Given the description of an element on the screen output the (x, y) to click on. 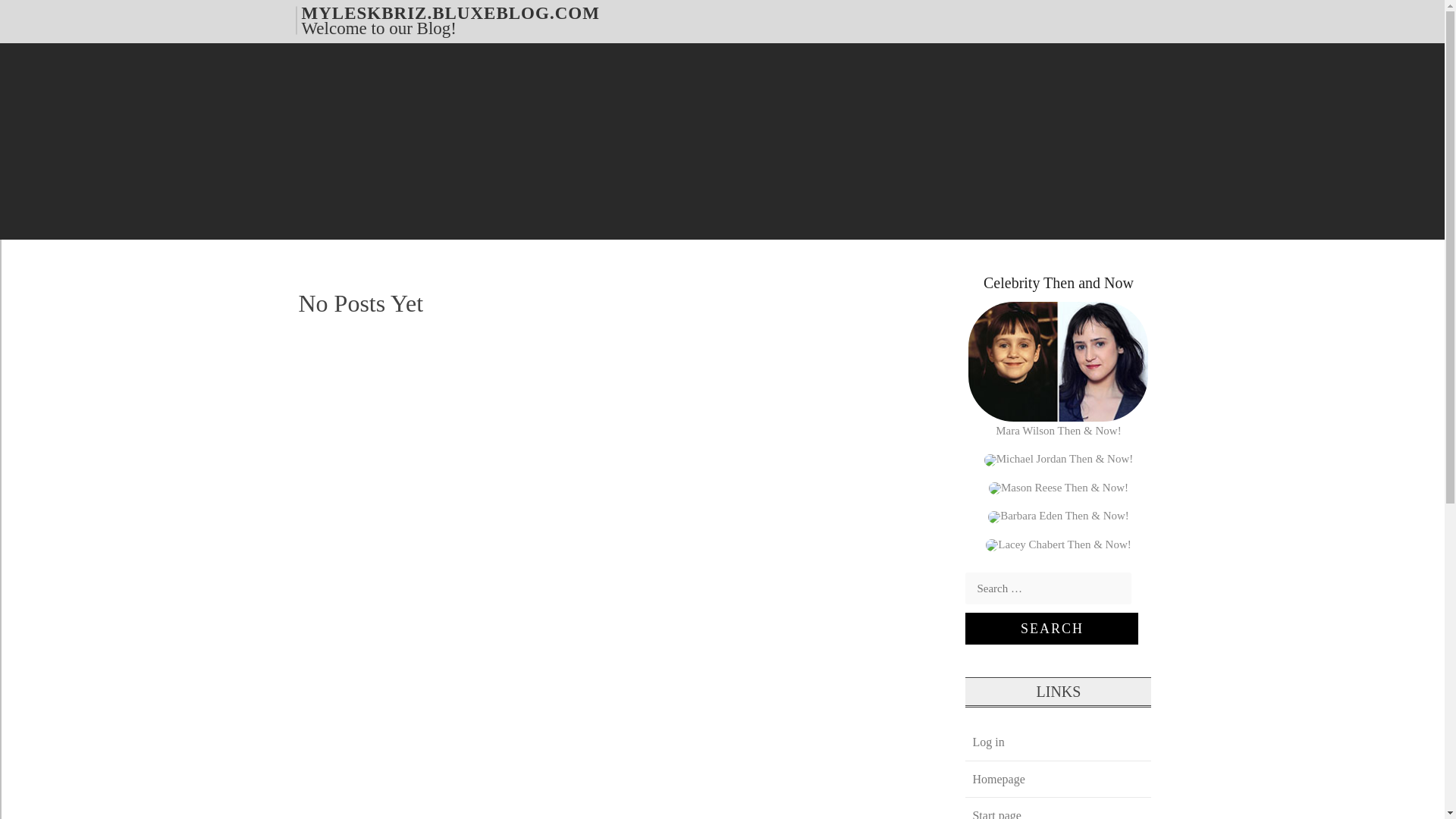
Search (1051, 628)
Log in (987, 741)
Search (1051, 628)
Homepage (997, 778)
MYLESKBRIZ.BLUXEBLOG.COM (450, 12)
Search (1051, 628)
Skip to content (34, 10)
Start page (996, 810)
